Given the description of an element on the screen output the (x, y) to click on. 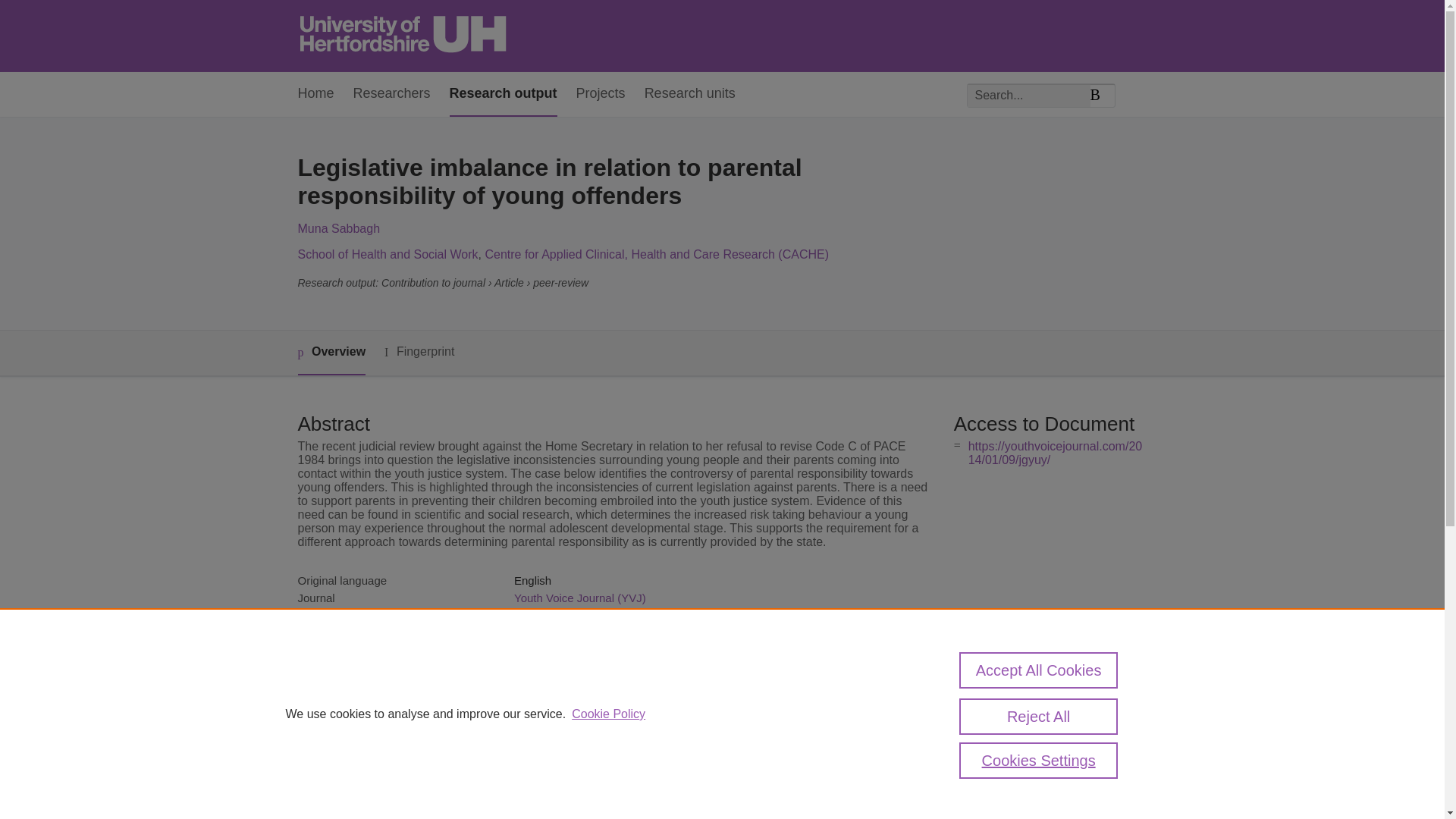
Fingerprint (419, 351)
Cookies Settings (1038, 760)
Cookie Policy (608, 713)
Researchers (391, 94)
Reject All (1038, 716)
Research output (503, 94)
Overview (331, 352)
Muna Sabbagh (338, 228)
Projects (601, 94)
